Given the description of an element on the screen output the (x, y) to click on. 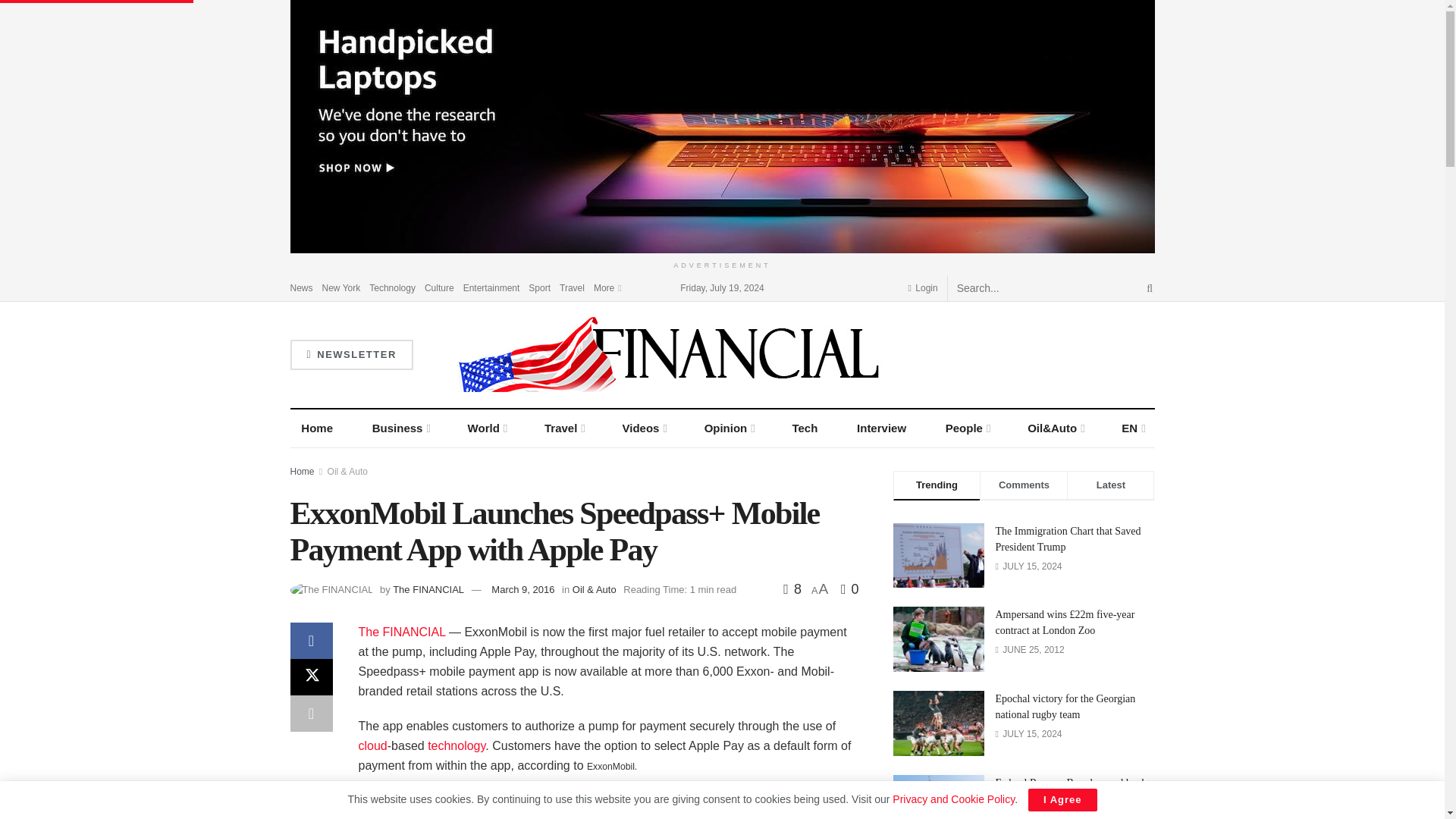
Culture (439, 287)
Travel (572, 287)
Technology (372, 745)
World (486, 428)
NEWSLETTER (350, 354)
More (607, 287)
Business (400, 428)
Technology (456, 745)
Entertainment (491, 287)
The FINANCIAL (401, 631)
Home (316, 428)
Login (922, 287)
Technology (391, 287)
New York (341, 287)
